Given the description of an element on the screen output the (x, y) to click on. 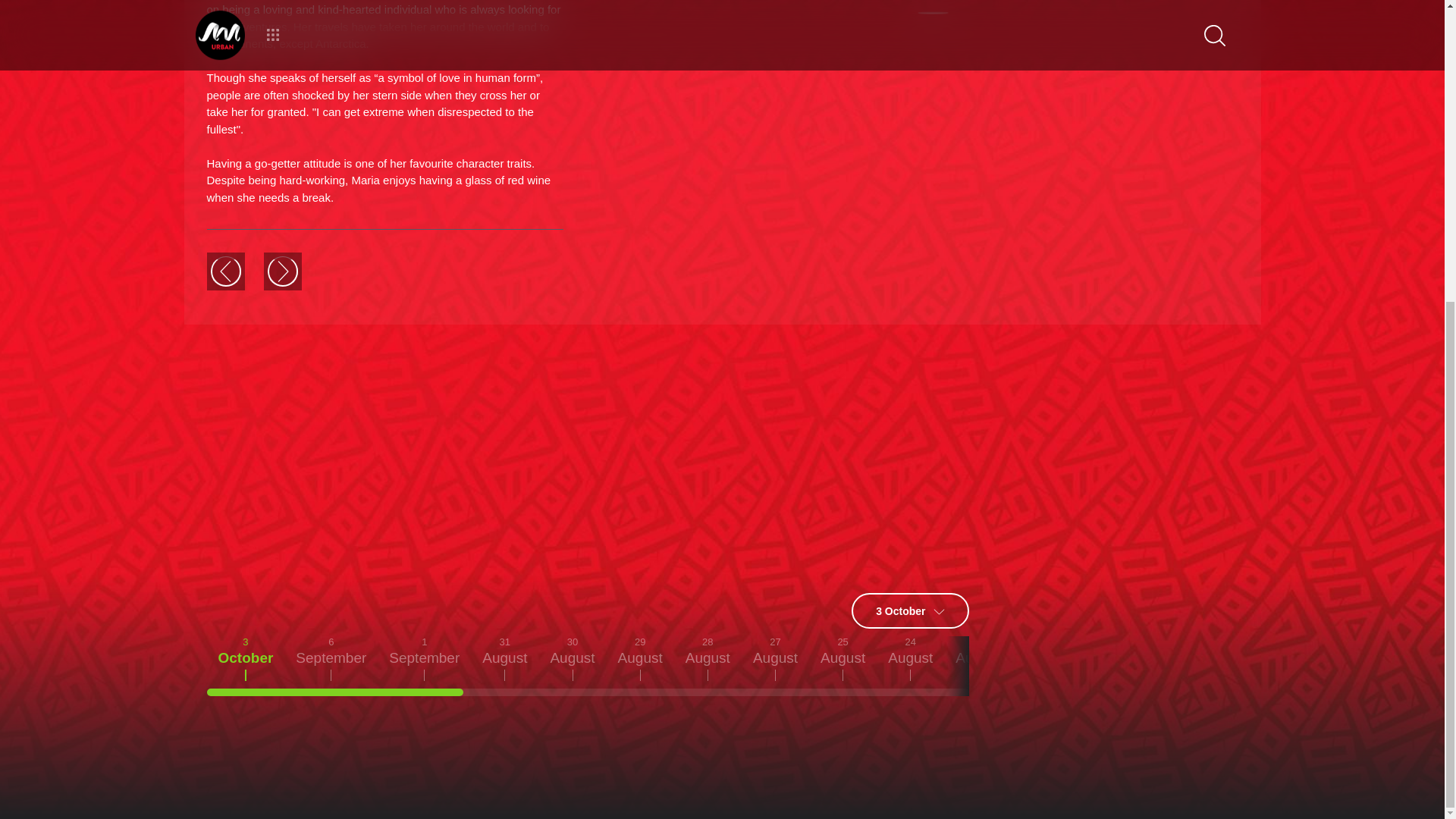
3 October (909, 610)
